Given the description of an element on the screen output the (x, y) to click on. 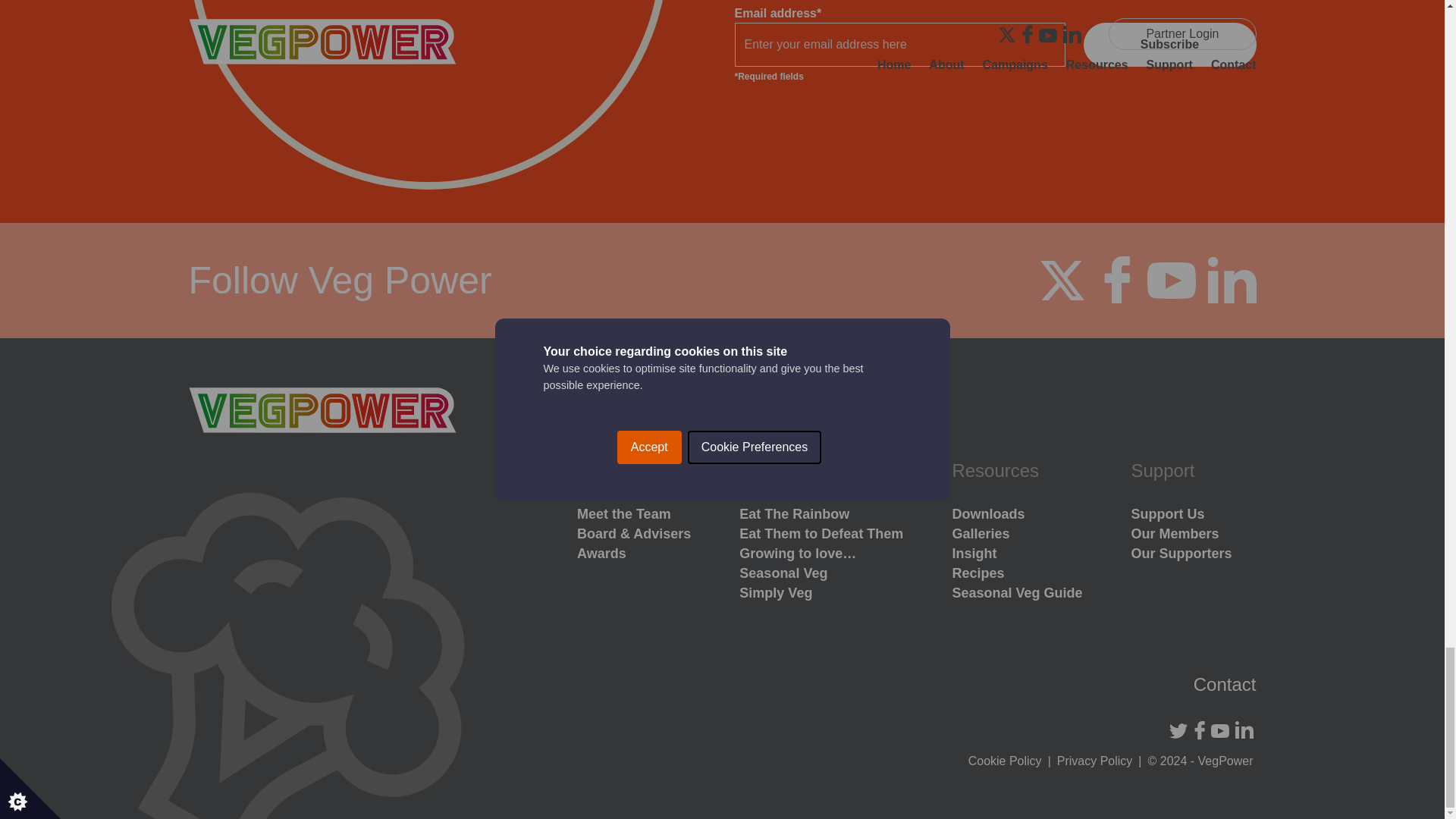
Subscribe (1169, 44)
